Given the description of an element on the screen output the (x, y) to click on. 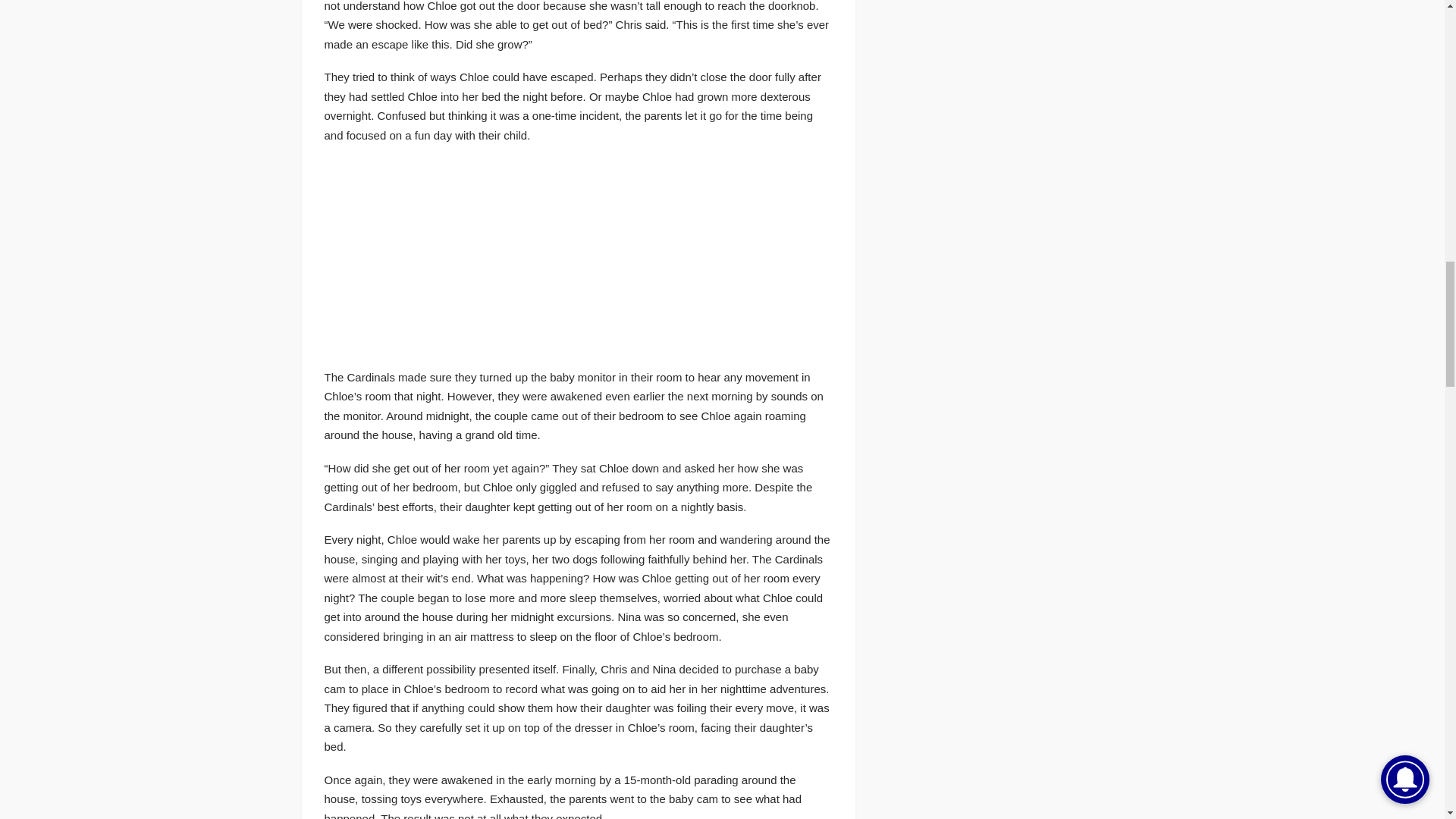
Advertisement (437, 253)
